Given the description of an element on the screen output the (x, y) to click on. 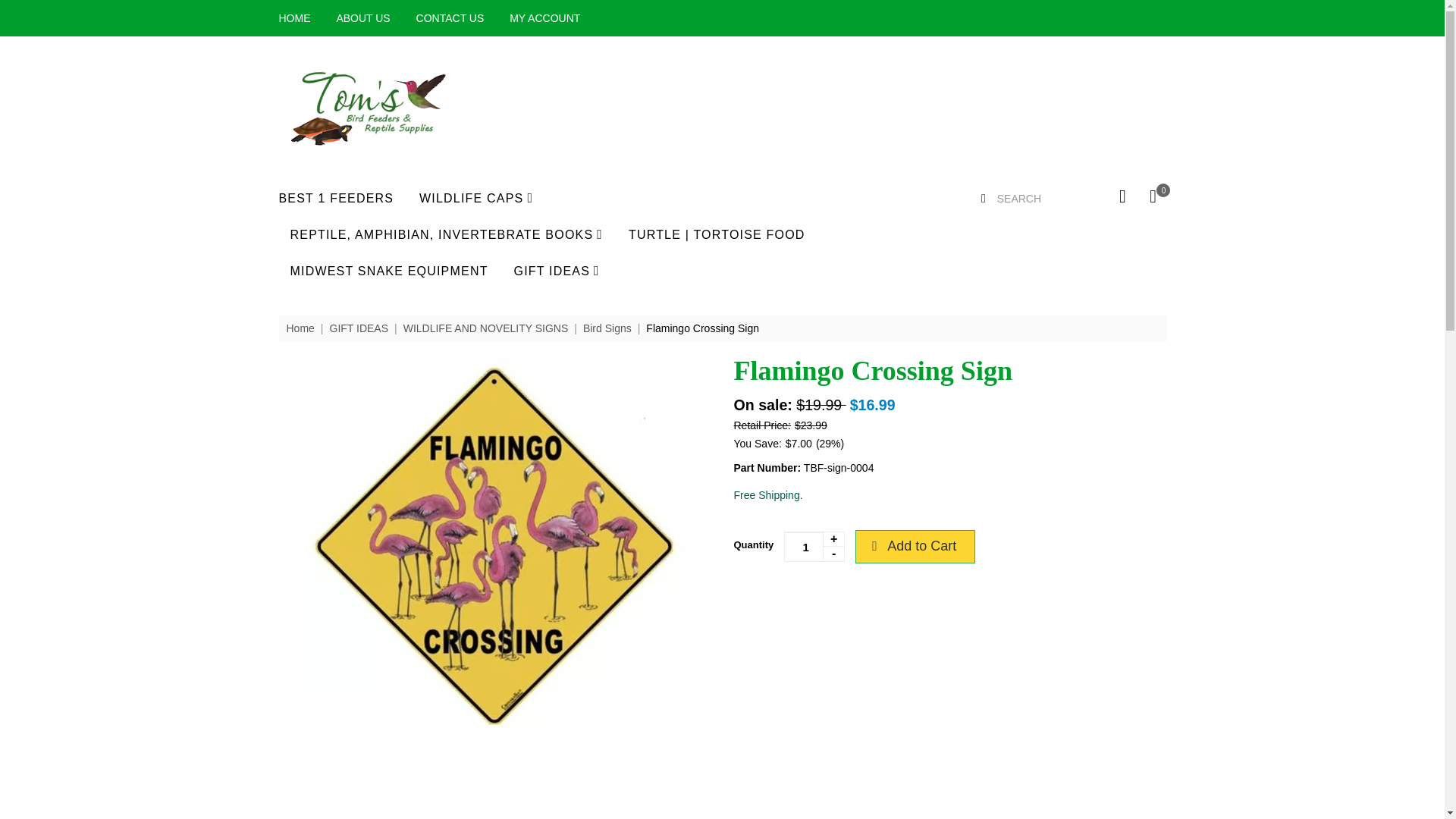
home (368, 109)
GIFT IDEAS (556, 270)
WILDLIFE CAPS (475, 197)
ABOUT US (363, 18)
WILDLIFE AND NOVELITY SIGNS (486, 328)
REPTILE, AMPHIBIAN, INVERTEBRATE BOOKS (445, 233)
MY ACCOUNT (544, 18)
BEST 1 FEEDERS (336, 198)
CONTACT US (450, 18)
HOME (295, 18)
